Given the description of an element on the screen output the (x, y) to click on. 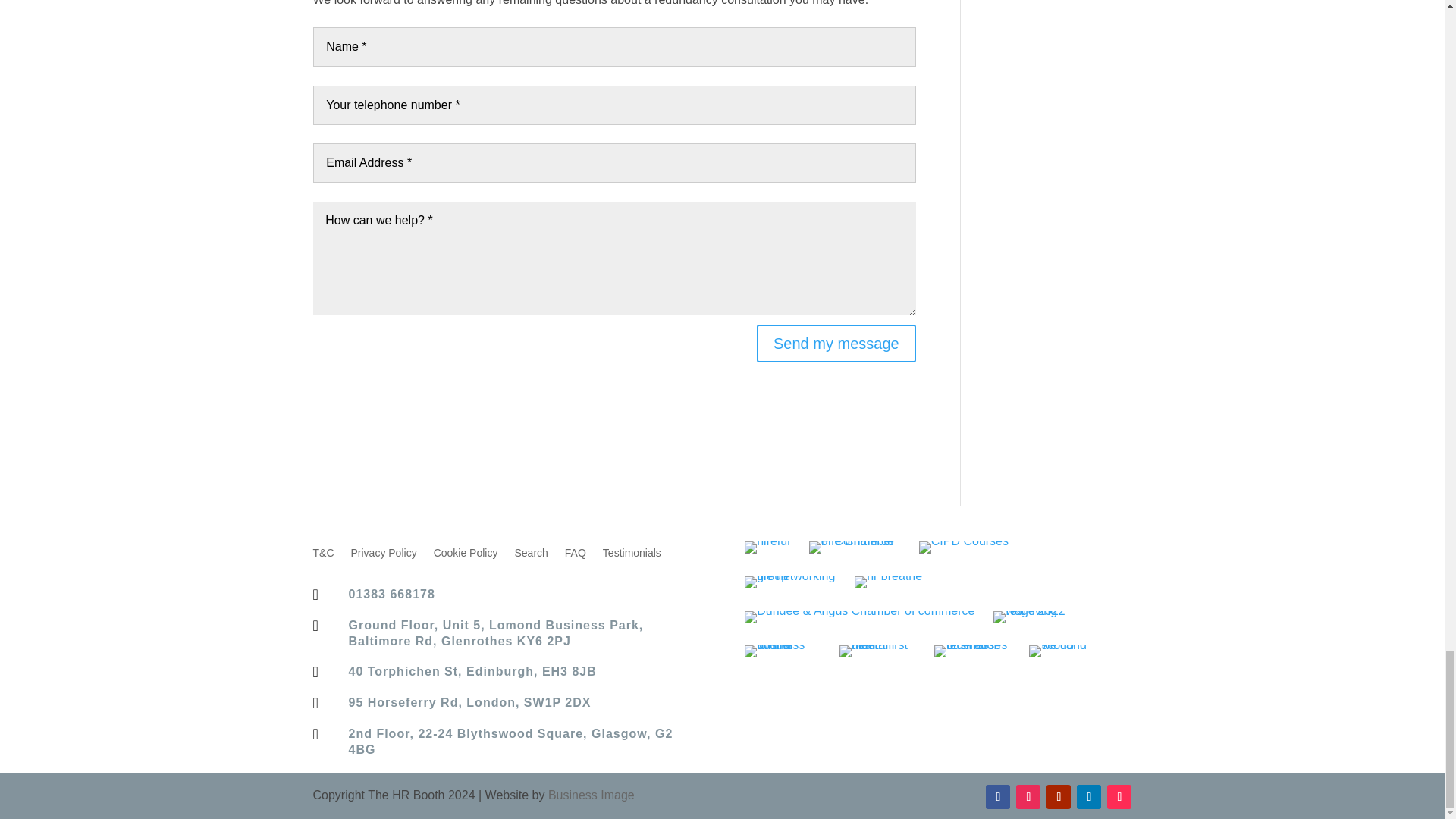
Follow on Facebook (997, 796)
fife-chamber-of-commerce-logo (854, 547)
MHFA Badge (877, 651)
Follow on Instagram (1028, 796)
Partner-Badge-GOLD-png-300x265 (887, 582)
Screenshot 2021-11-02 at 10.17.12 (782, 651)
Send my message (836, 343)
fife-networking (789, 582)
download (767, 547)
we do scotland (1067, 651)
Follow on Youtube (1058, 796)
cipd-logo (963, 547)
